Given the description of an element on the screen output the (x, y) to click on. 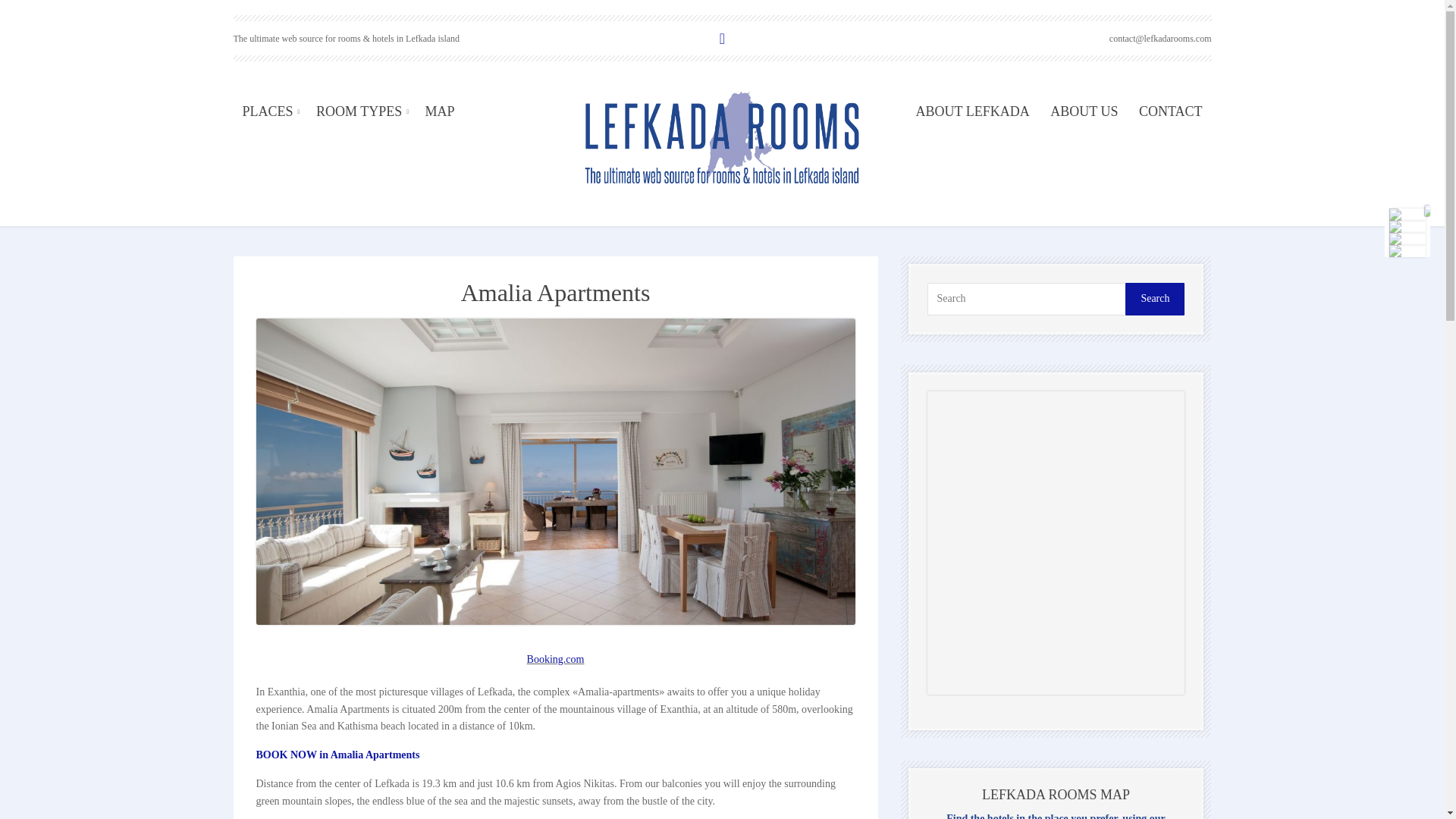
Mail us (1407, 250)
PLACES (268, 111)
Facebook Page (1407, 214)
Twitter Feed (1407, 226)
Search (1155, 298)
ROOM TYPES (360, 111)
Search (1155, 298)
Pinterest (1407, 238)
